Given the description of an element on the screen output the (x, y) to click on. 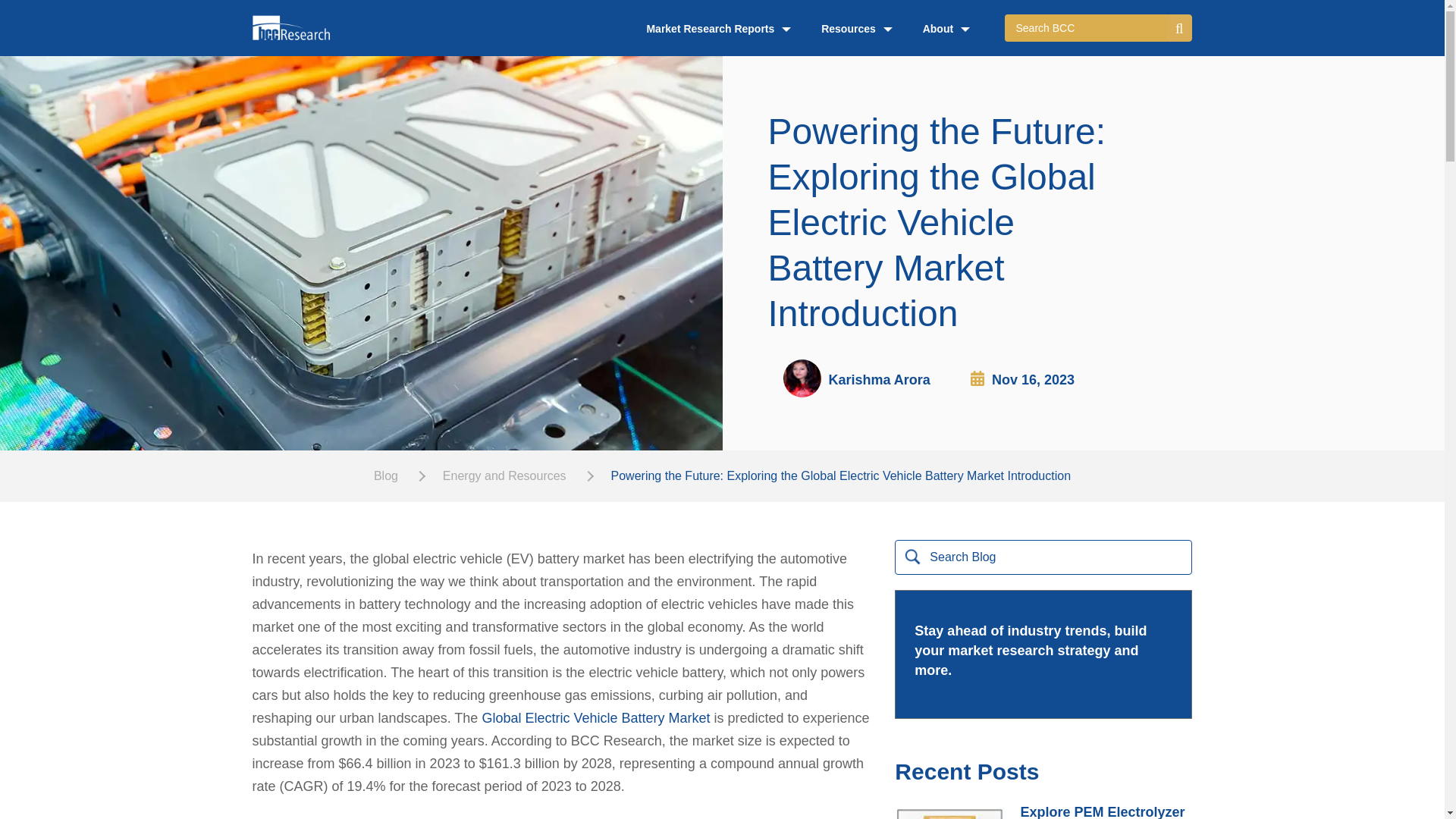
Market Research Reports (718, 28)
BCC Research Blog (302, 27)
